Given the description of an element on the screen output the (x, y) to click on. 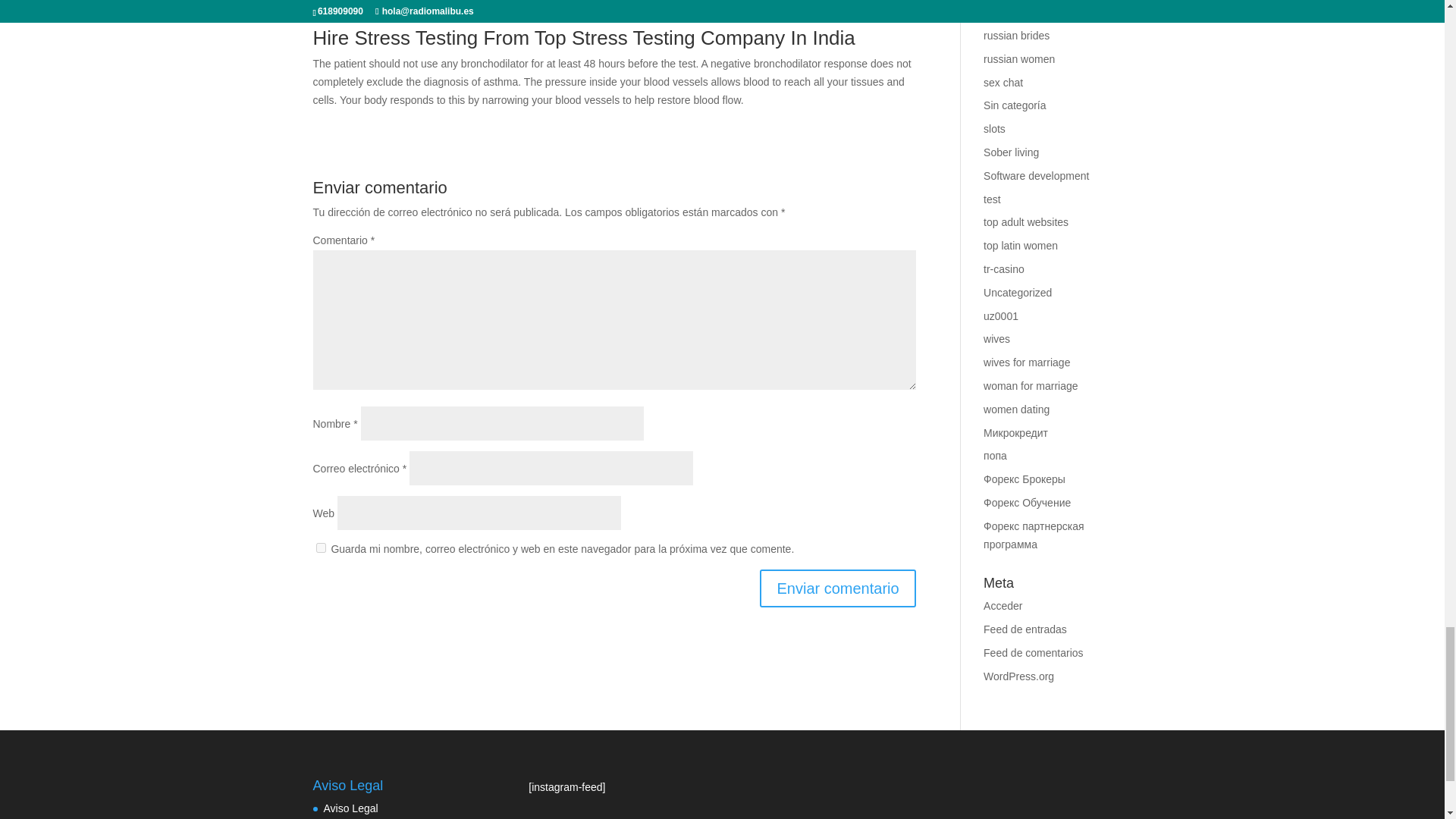
Enviar comentario (837, 588)
yes (319, 547)
Enviar comentario (837, 588)
